Given the description of an element on the screen output the (x, y) to click on. 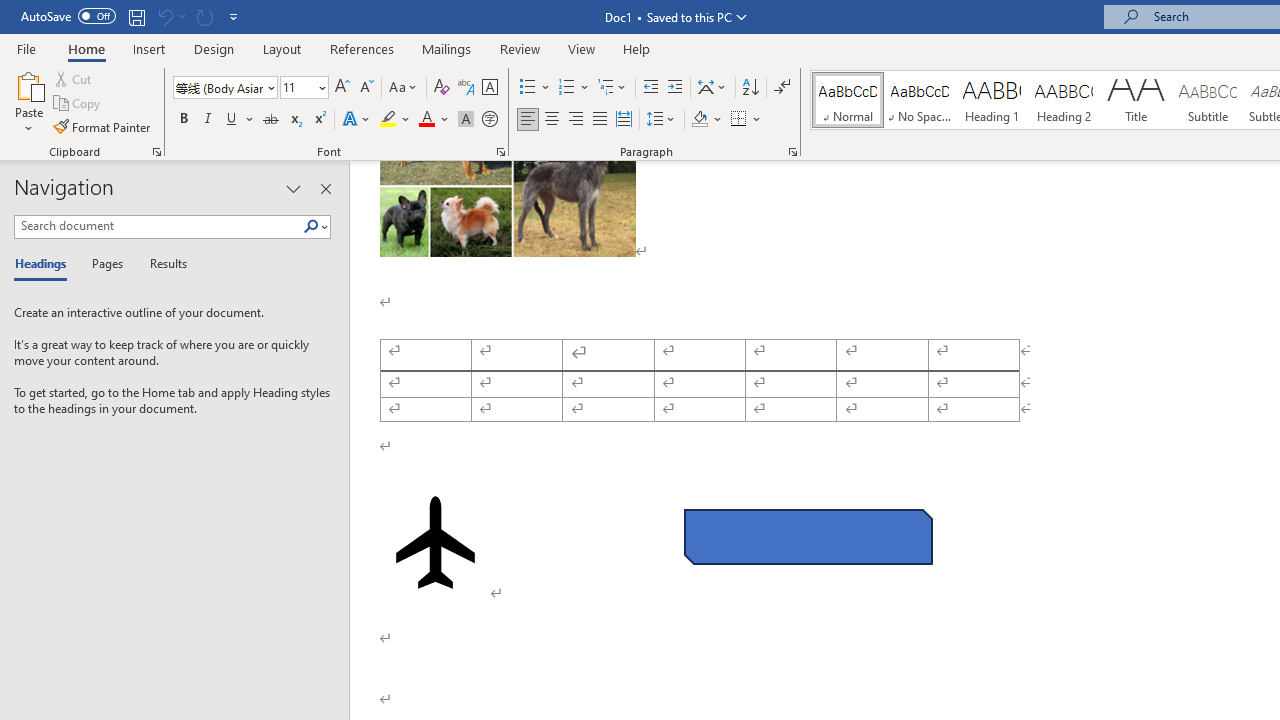
Font Color Red (426, 119)
Can't Undo (164, 15)
